Given the description of an element on the screen output the (x, y) to click on. 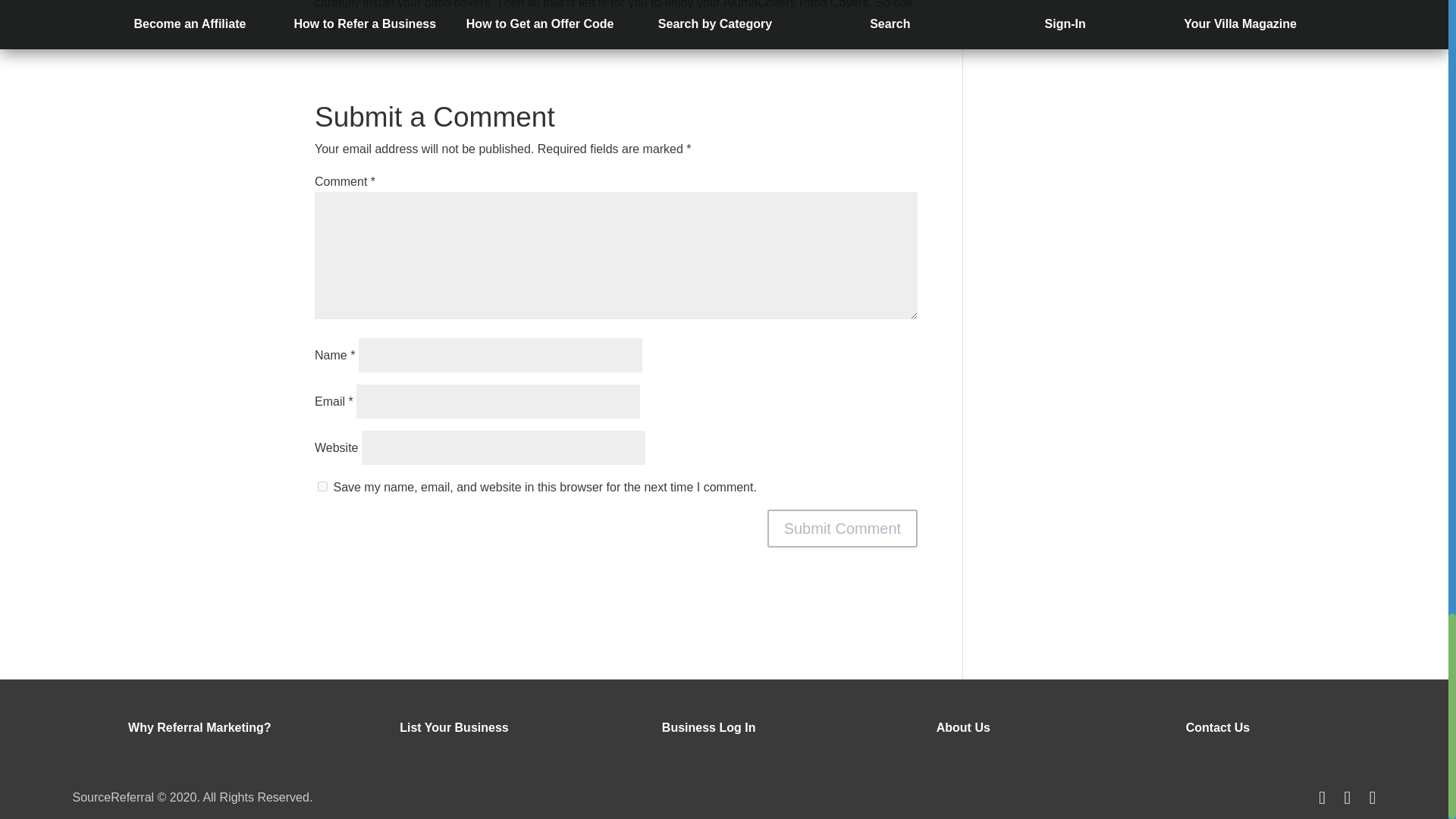
Business Log In (708, 727)
List Your Business (453, 727)
Contact Us (1217, 727)
About Us (963, 727)
Submit Comment (842, 528)
Why Referral Marketing? (199, 727)
Submit Comment (842, 528)
yes (322, 486)
